Given the description of an element on the screen output the (x, y) to click on. 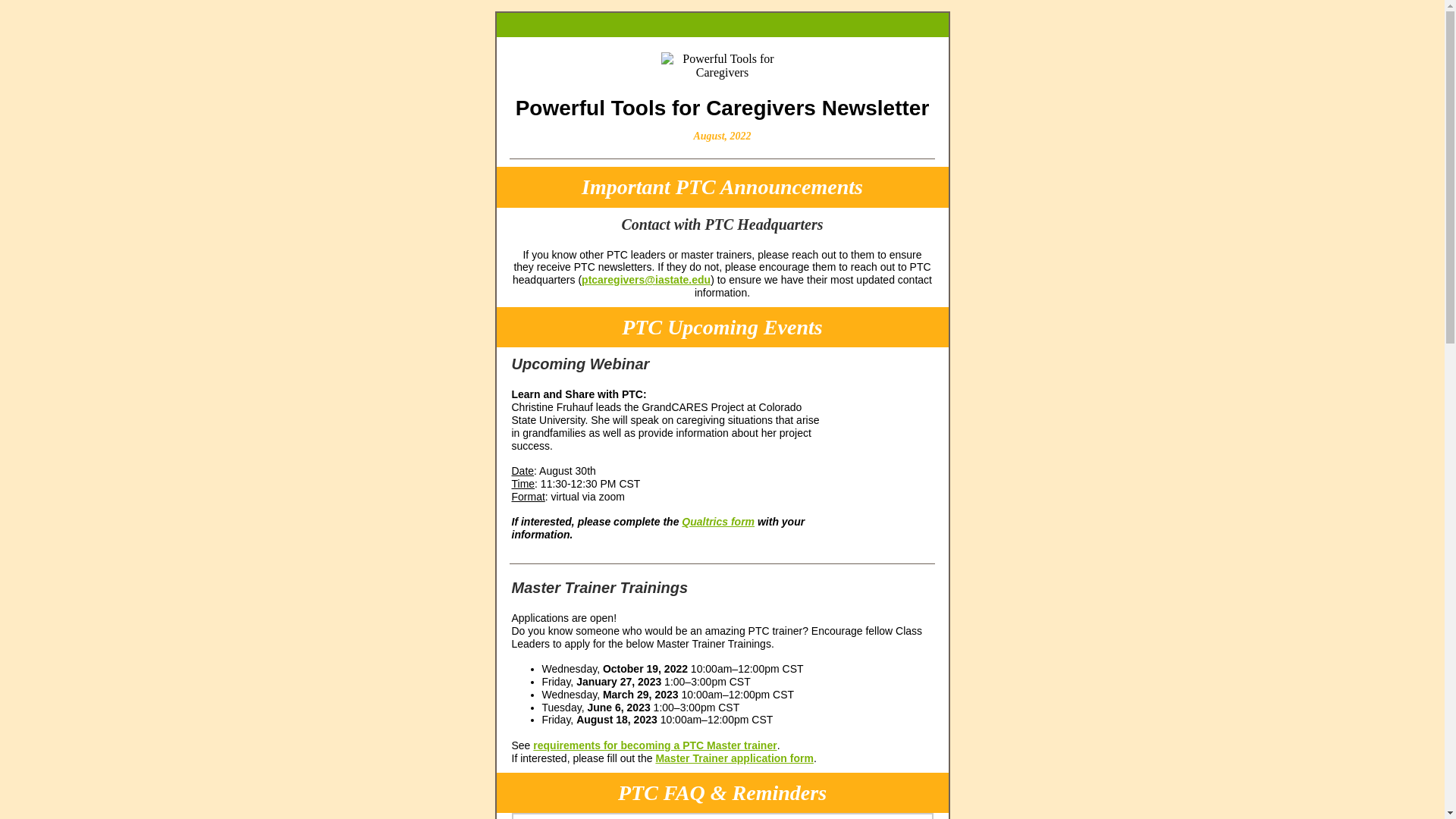
Master Trainer application form (734, 758)
Qualtrics form (717, 521)
requirements for becoming a PTC Master trainer (654, 745)
